Given the description of an element on the screen output the (x, y) to click on. 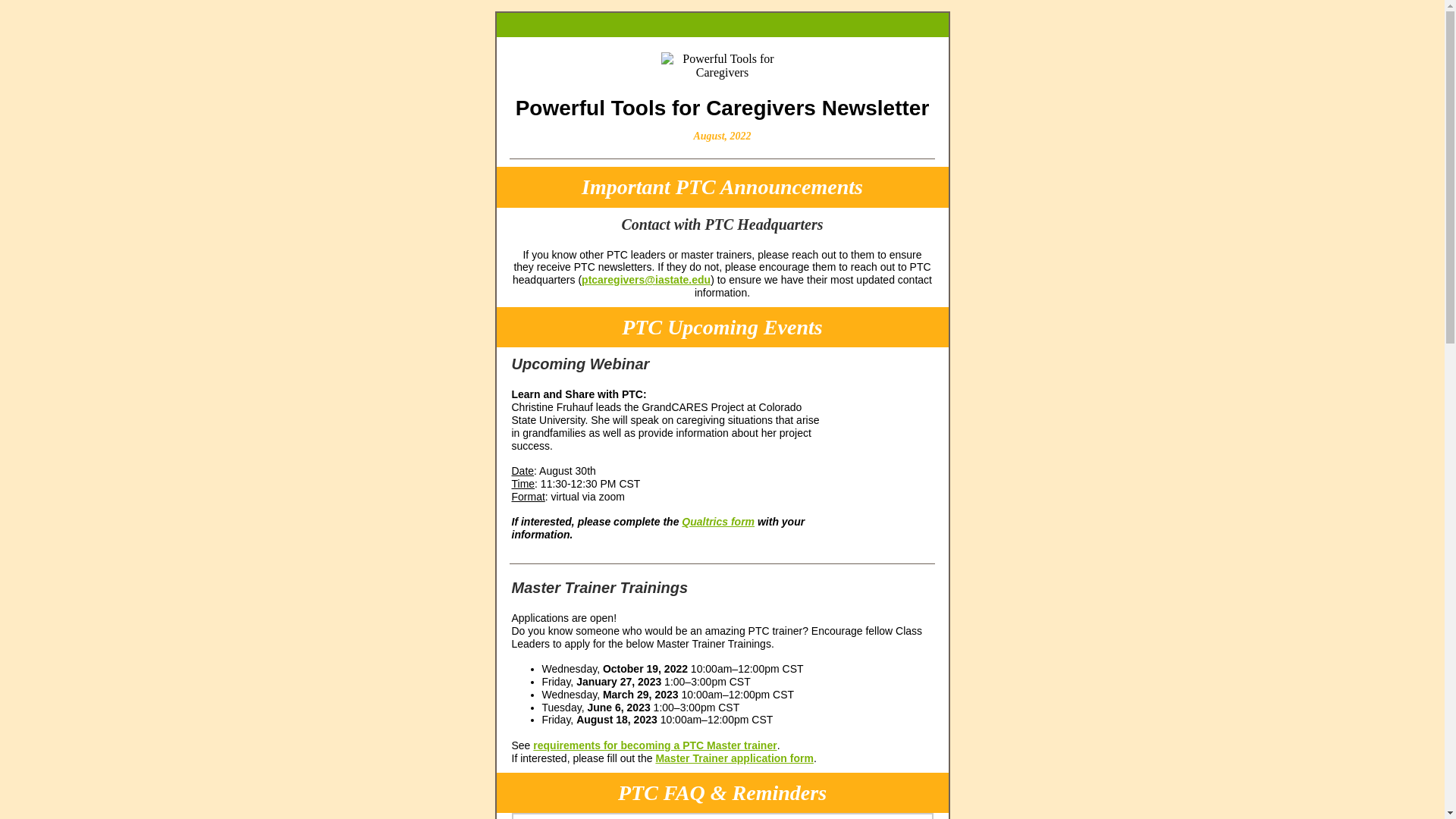
Master Trainer application form (734, 758)
Qualtrics form (717, 521)
requirements for becoming a PTC Master trainer (654, 745)
